Given the description of an element on the screen output the (x, y) to click on. 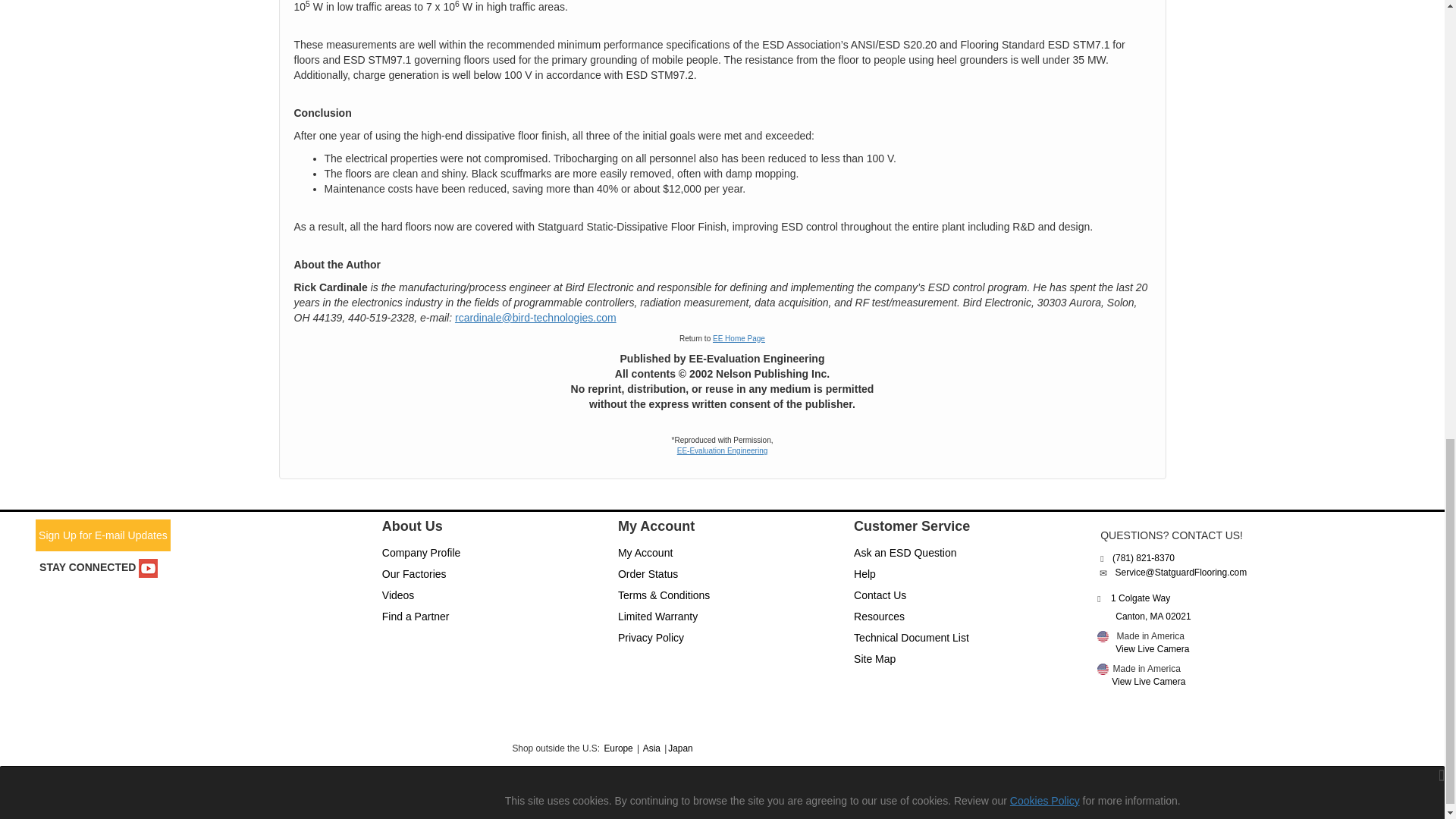
Statguard Flooring (932, 787)
Tronex (1012, 787)
EMIT (376, 787)
Protektive Pak (696, 787)
US Toyo Fan (1108, 787)
Static Control (769, 787)
APR (176, 787)
ESD Systems.com (451, 787)
Desco Industries (1102, 636)
EasyBraid (313, 787)
ProNet (605, 787)
MendaPump (532, 787)
Special Team (845, 787)
DESCO (238, 787)
You Tube (147, 568)
